Given the description of an element on the screen output the (x, y) to click on. 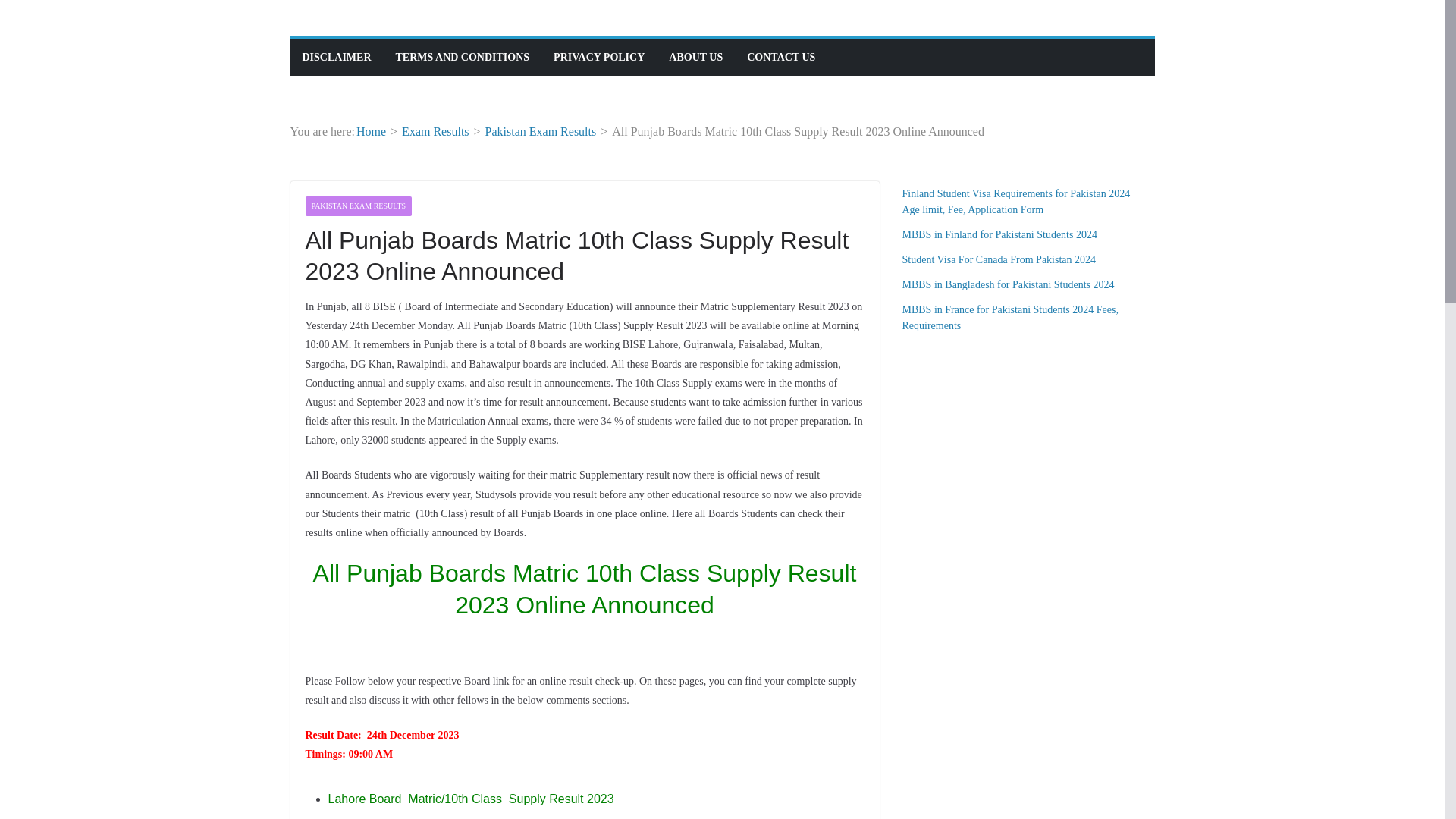
PAKISTAN EXAM RESULTS (358, 206)
MBBS in Finland for Pakistani Students 2024 (999, 234)
DISCLAIMER (336, 56)
Exam Results (434, 131)
TERMS AND CONDITIONS (462, 56)
Pakistan Exam Results (540, 131)
PRIVACY POLICY (599, 56)
ABOUT US (695, 56)
